Given the description of an element on the screen output the (x, y) to click on. 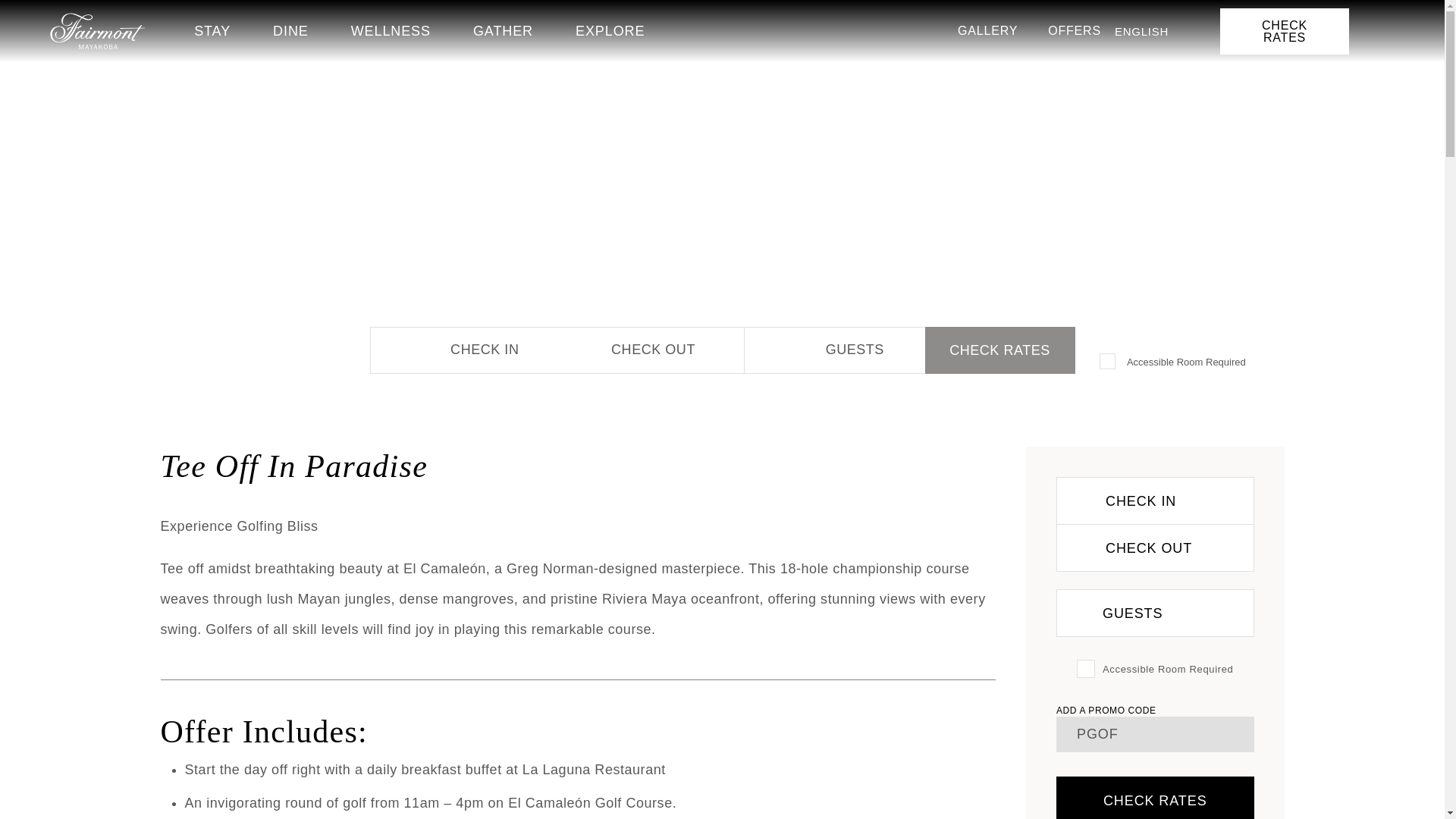
DINE (290, 30)
1 (1108, 361)
WELLNESS (390, 30)
1 (1085, 669)
PGOF (1155, 734)
GATHER (502, 30)
STAY (211, 30)
